Given the description of an element on the screen output the (x, y) to click on. 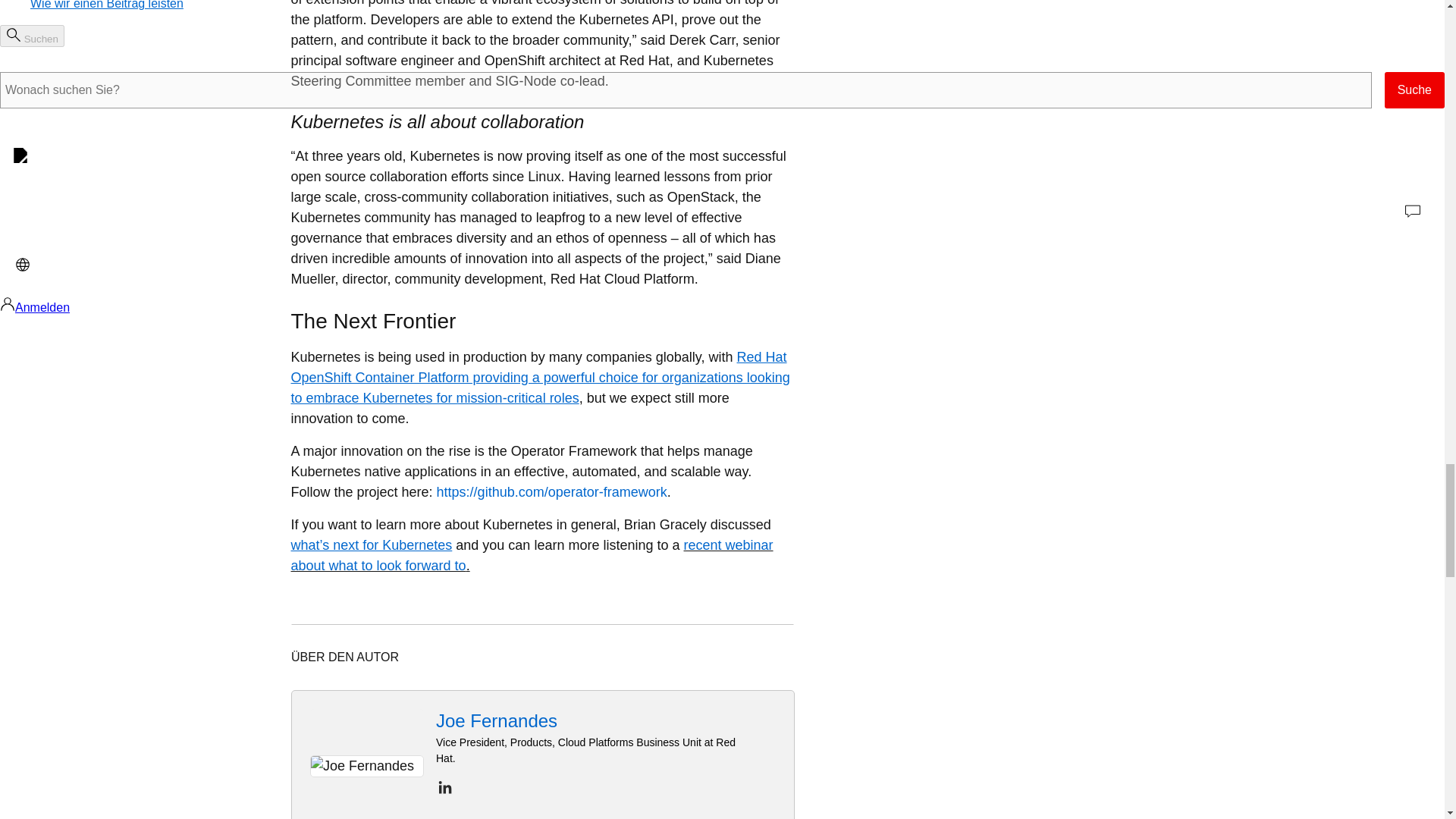
Follow Joe Fernandes LinkedIn (443, 787)
